Given the description of an element on the screen output the (x, y) to click on. 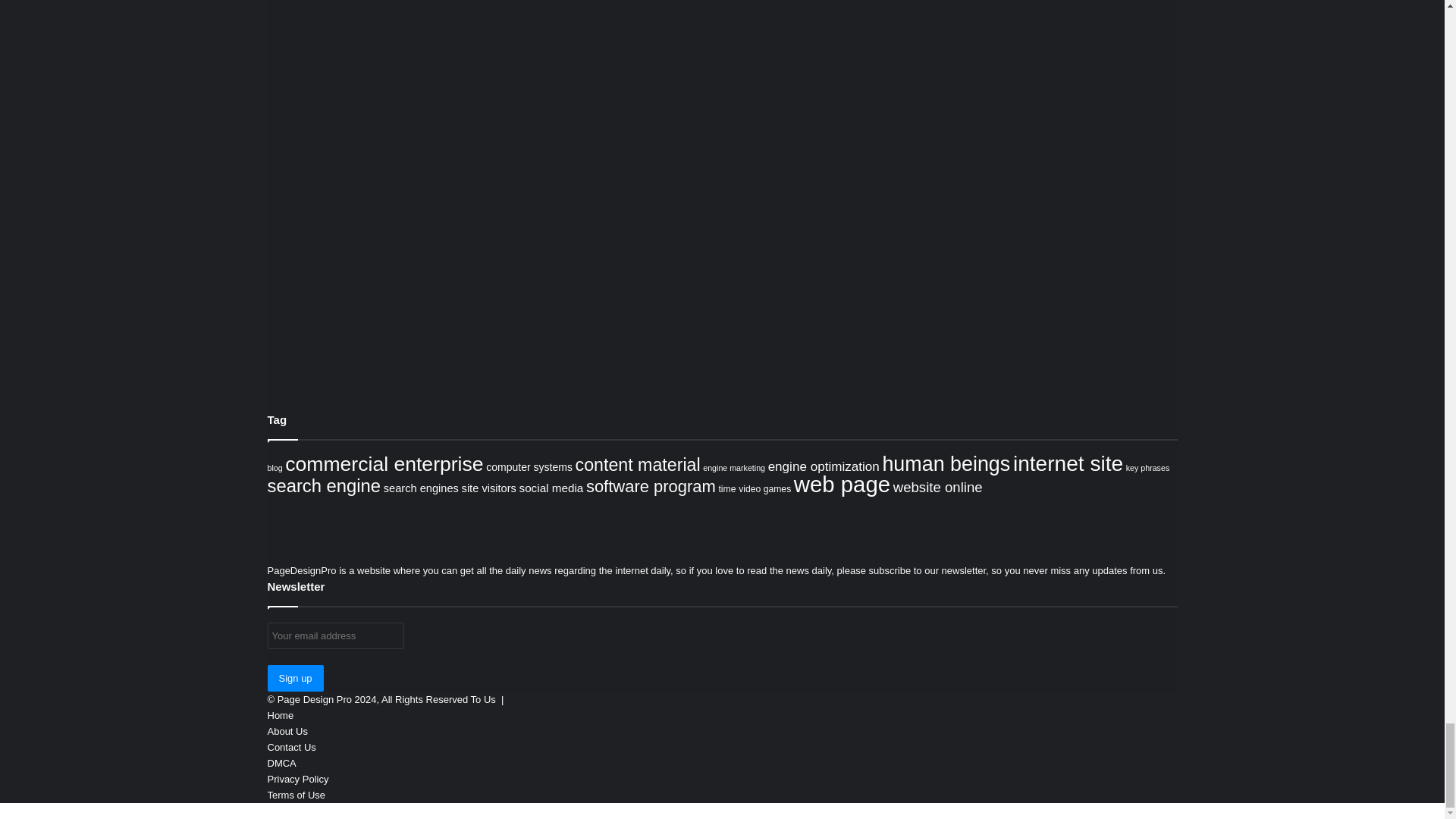
Sign up (294, 678)
